Given the description of an element on the screen output the (x, y) to click on. 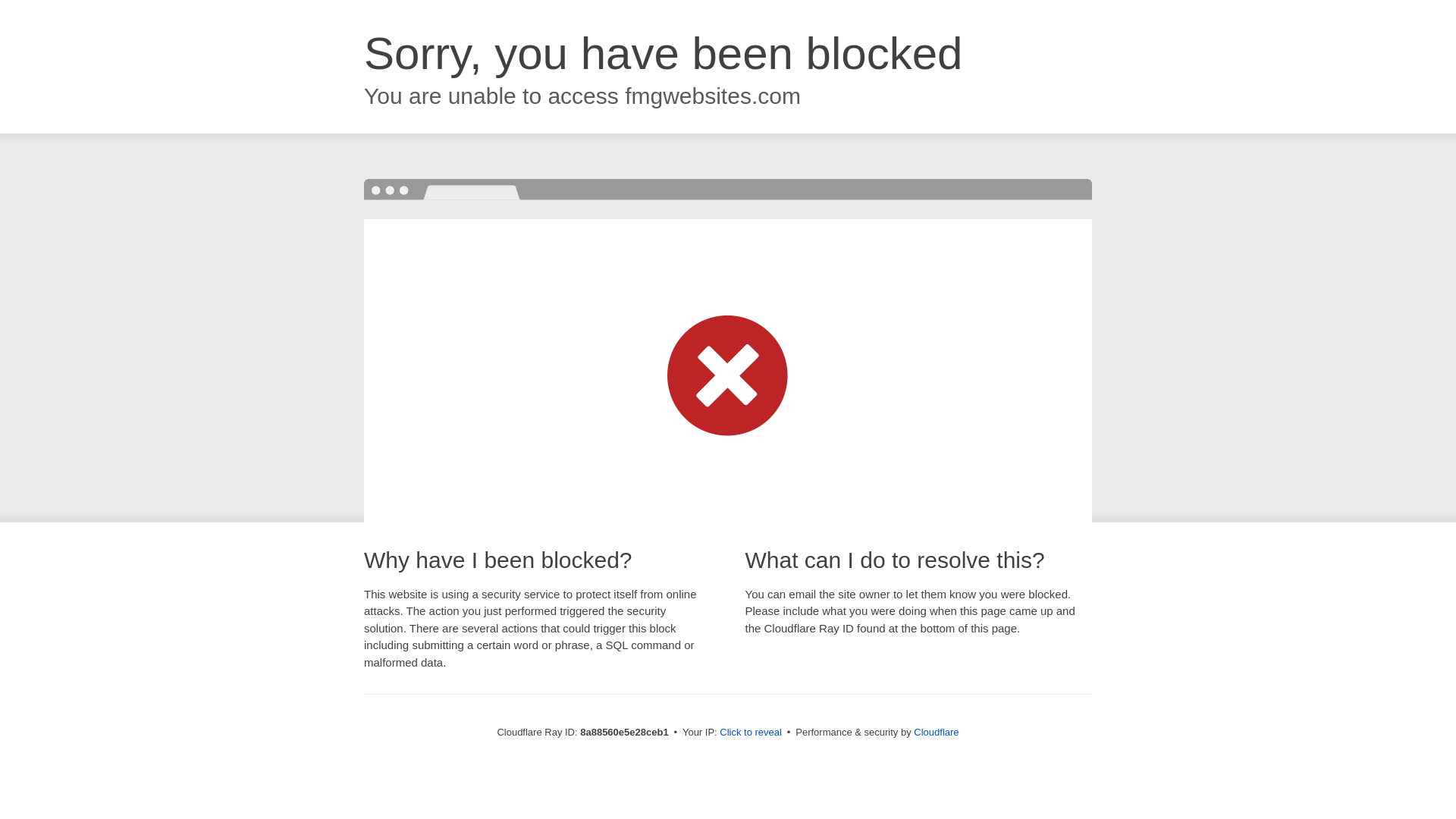
Cloudflare (936, 731)
Click to reveal (750, 732)
